Given the description of an element on the screen output the (x, y) to click on. 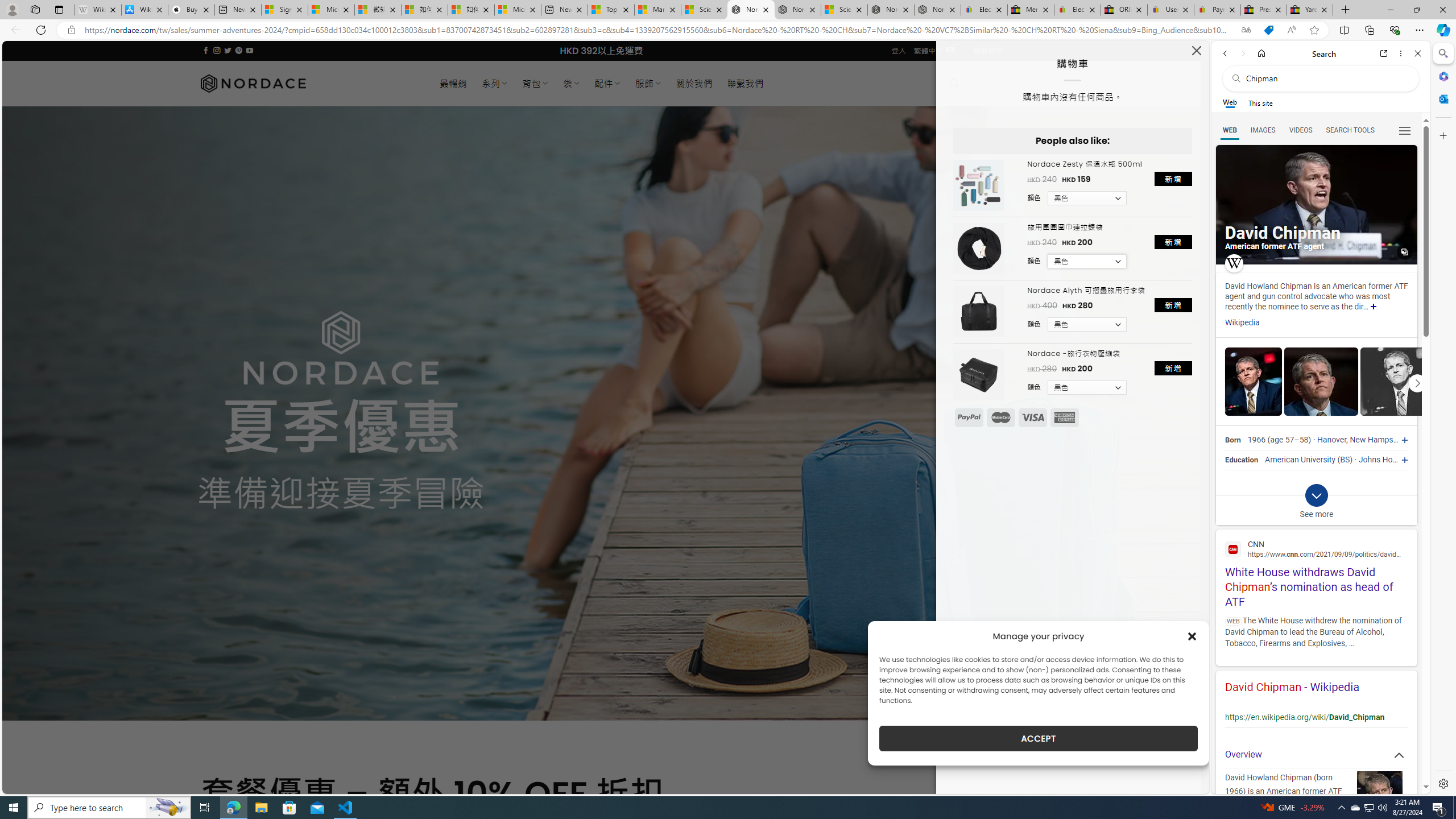
CNN (1315, 548)
Click to scroll right (1416, 382)
